Given the description of an element on the screen output the (x, y) to click on. 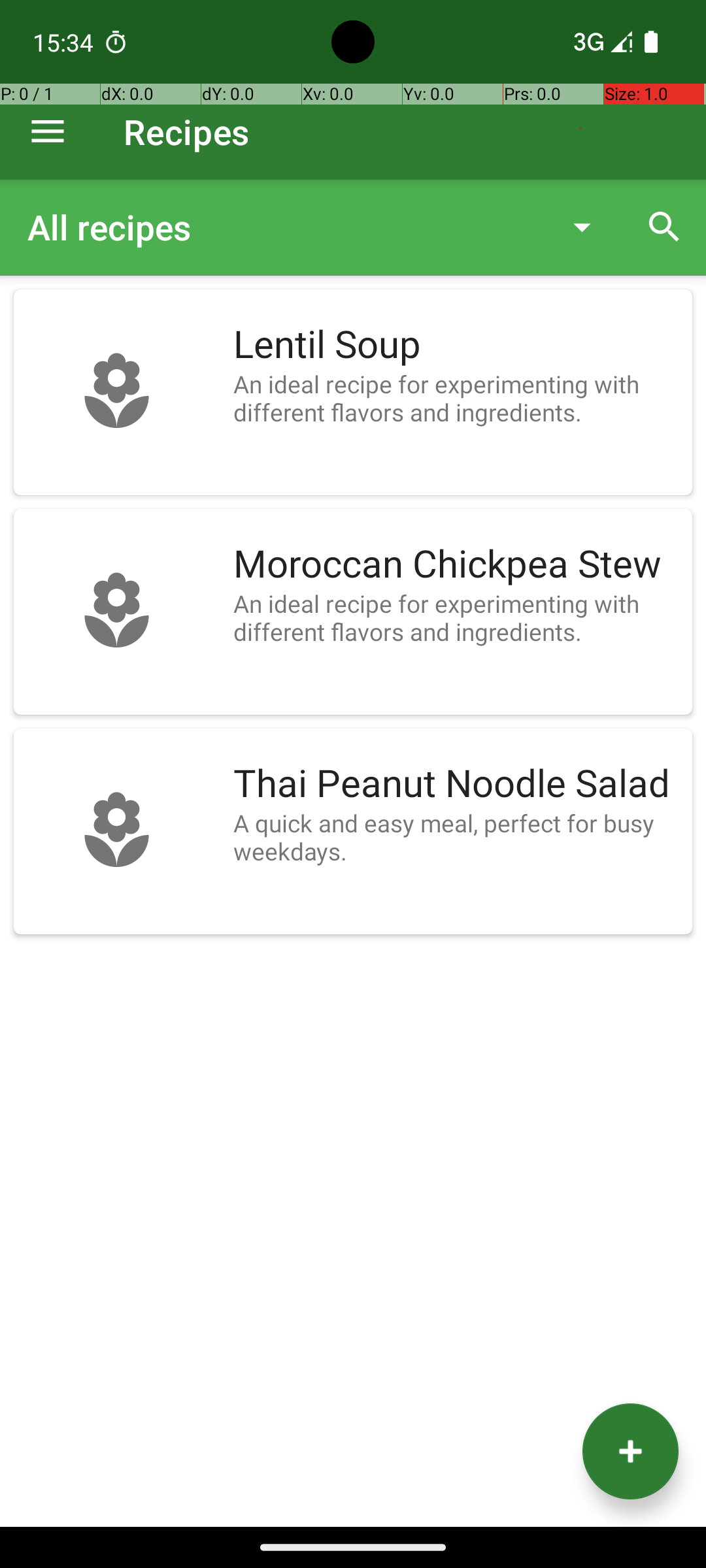
Thai Peanut Noodle Salad Element type: android.widget.TextView (455, 783)
